Given the description of an element on the screen output the (x, y) to click on. 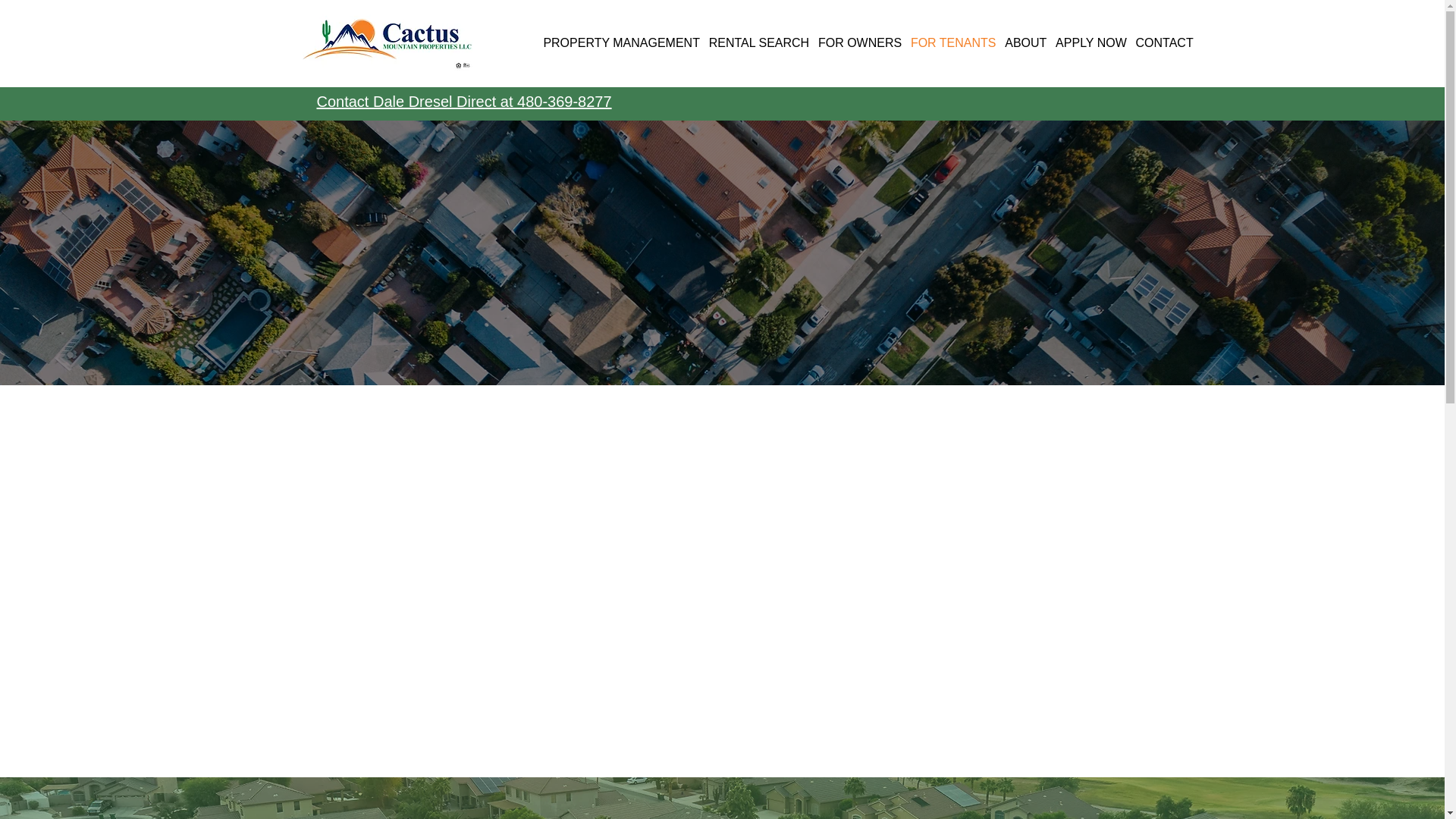
APPLY NOW (1091, 42)
ABOUT (1025, 42)
FOR TENANTS (952, 42)
RENTAL SEARCH (758, 42)
CONTACT (1164, 42)
FOR OWNERS (859, 42)
PROPERTY MANAGEMENT (620, 42)
Contact Dale Dresel Direct at 480-369-8277 (464, 101)
